Given the description of an element on the screen output the (x, y) to click on. 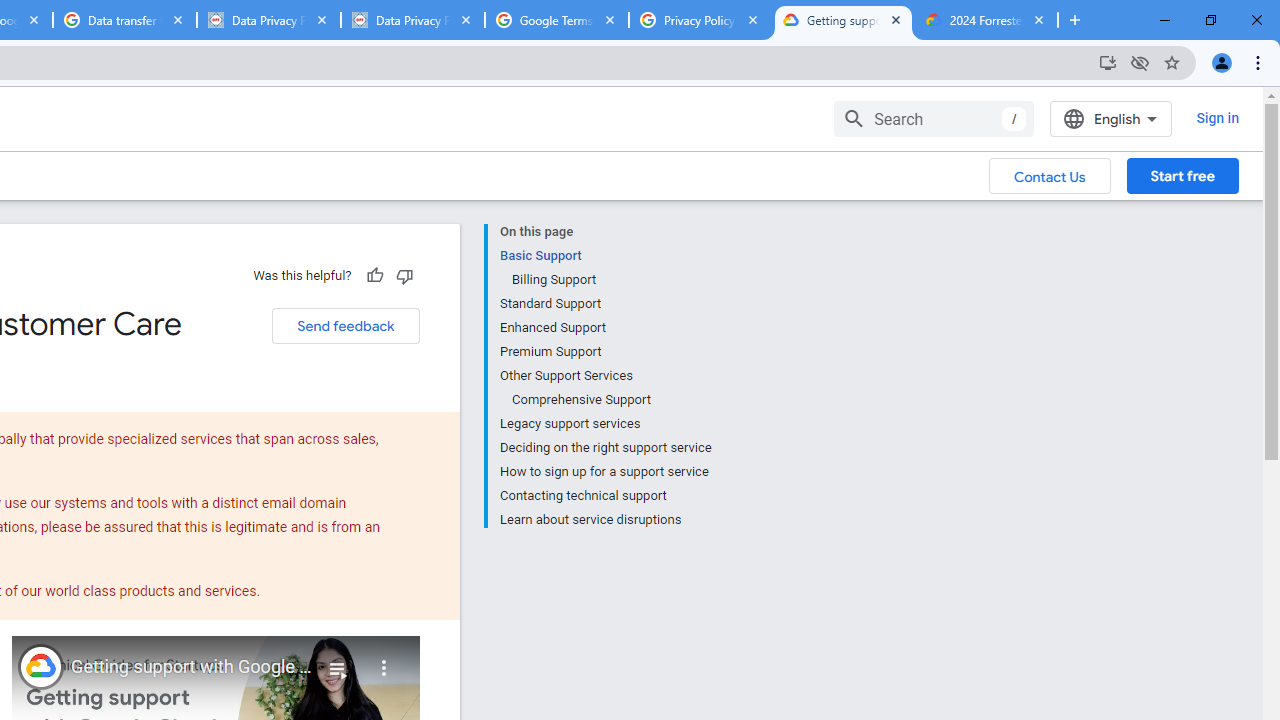
Contacting technical support (605, 495)
Playlist (337, 660)
Data Privacy Framework (268, 20)
Basic Support (605, 255)
Send feedback (345, 326)
Learn about service disruptions (605, 517)
